Given the description of an element on the screen output the (x, y) to click on. 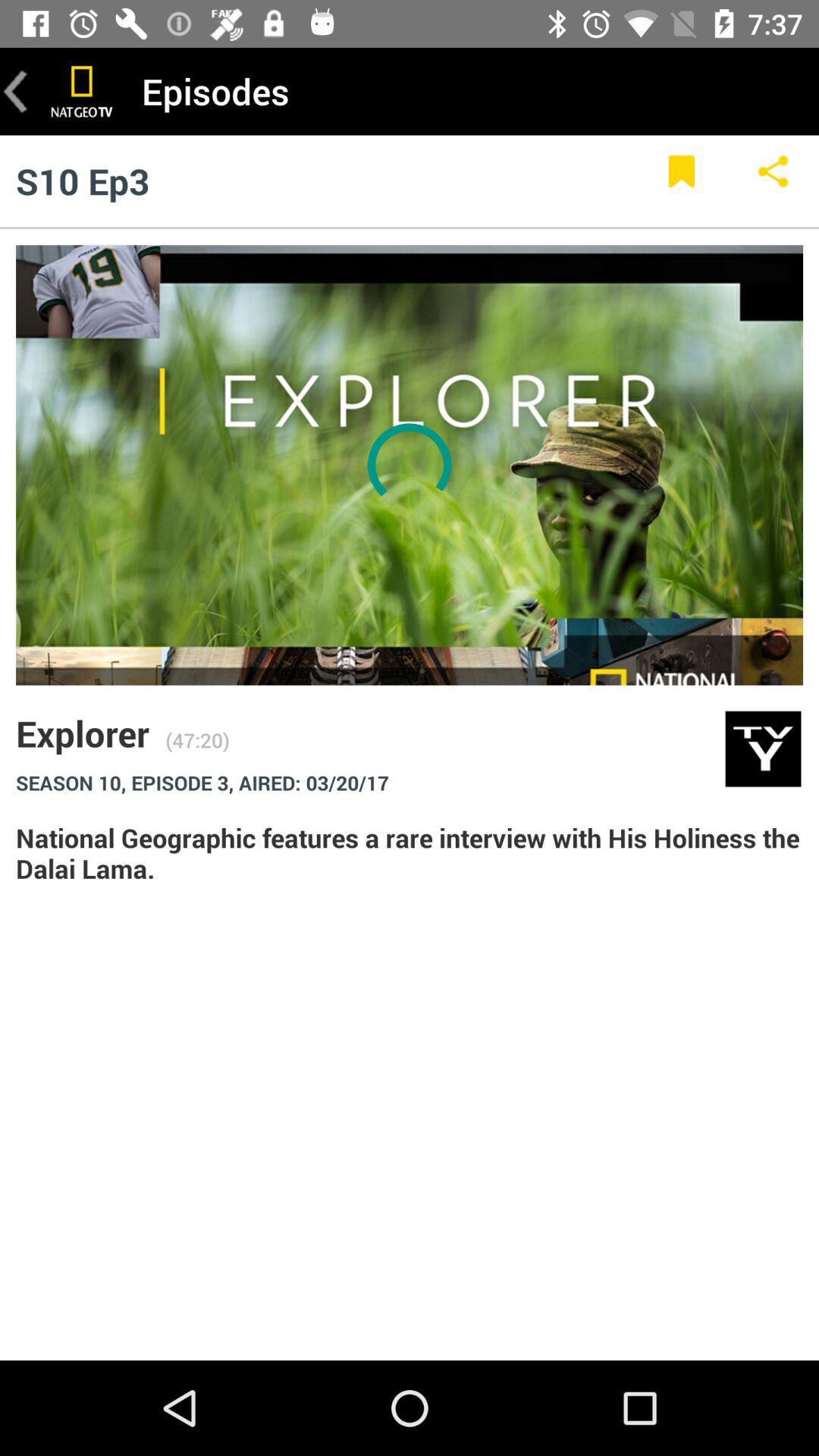
save page (681, 180)
